Given the description of an element on the screen output the (x, y) to click on. 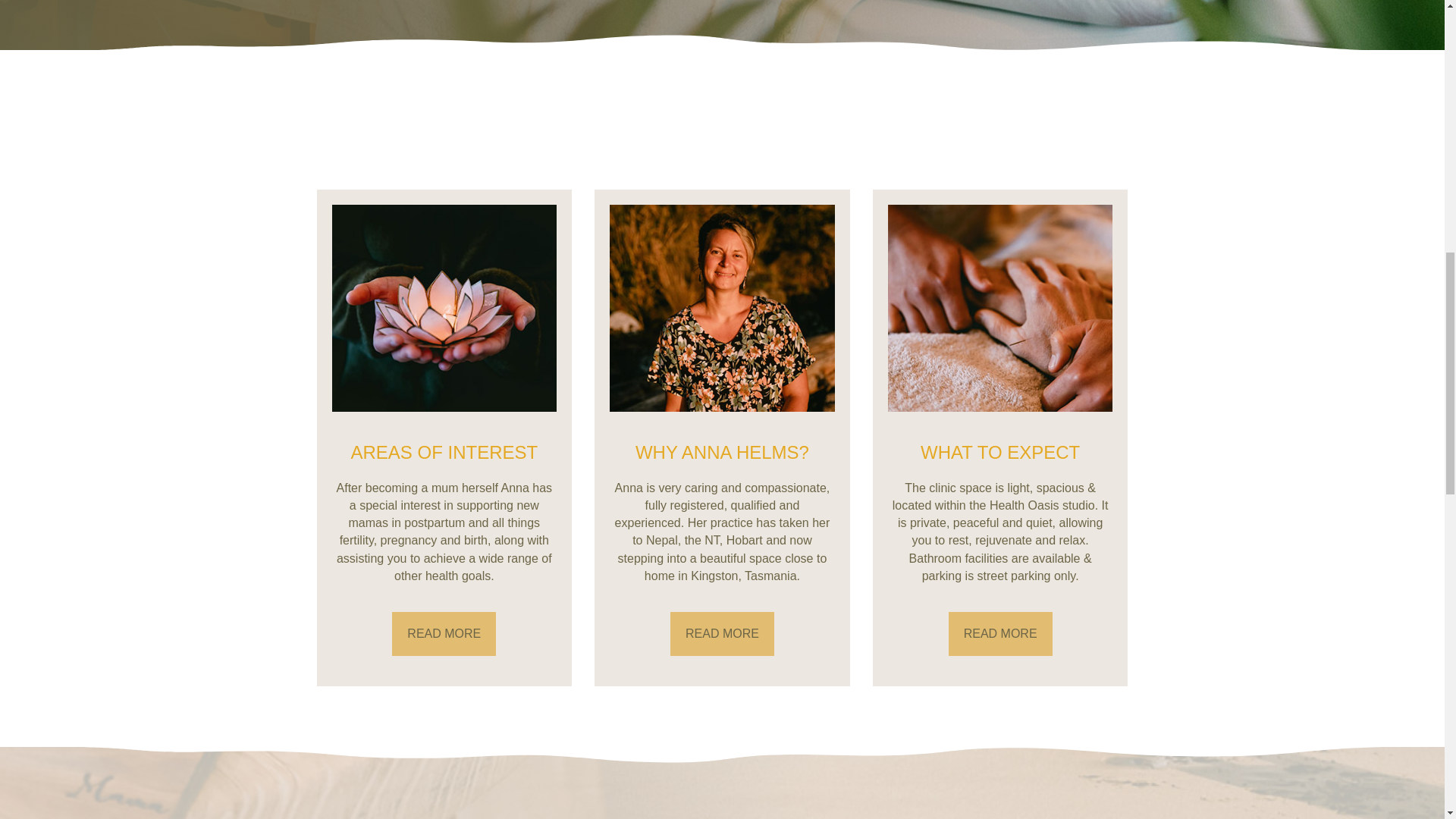
why-anna (722, 307)
READ MORE (721, 633)
READ MORE (443, 633)
READ MORE (1000, 633)
areas-of-interest (444, 307)
what-to-expect (1000, 308)
